Given the description of an element on the screen output the (x, y) to click on. 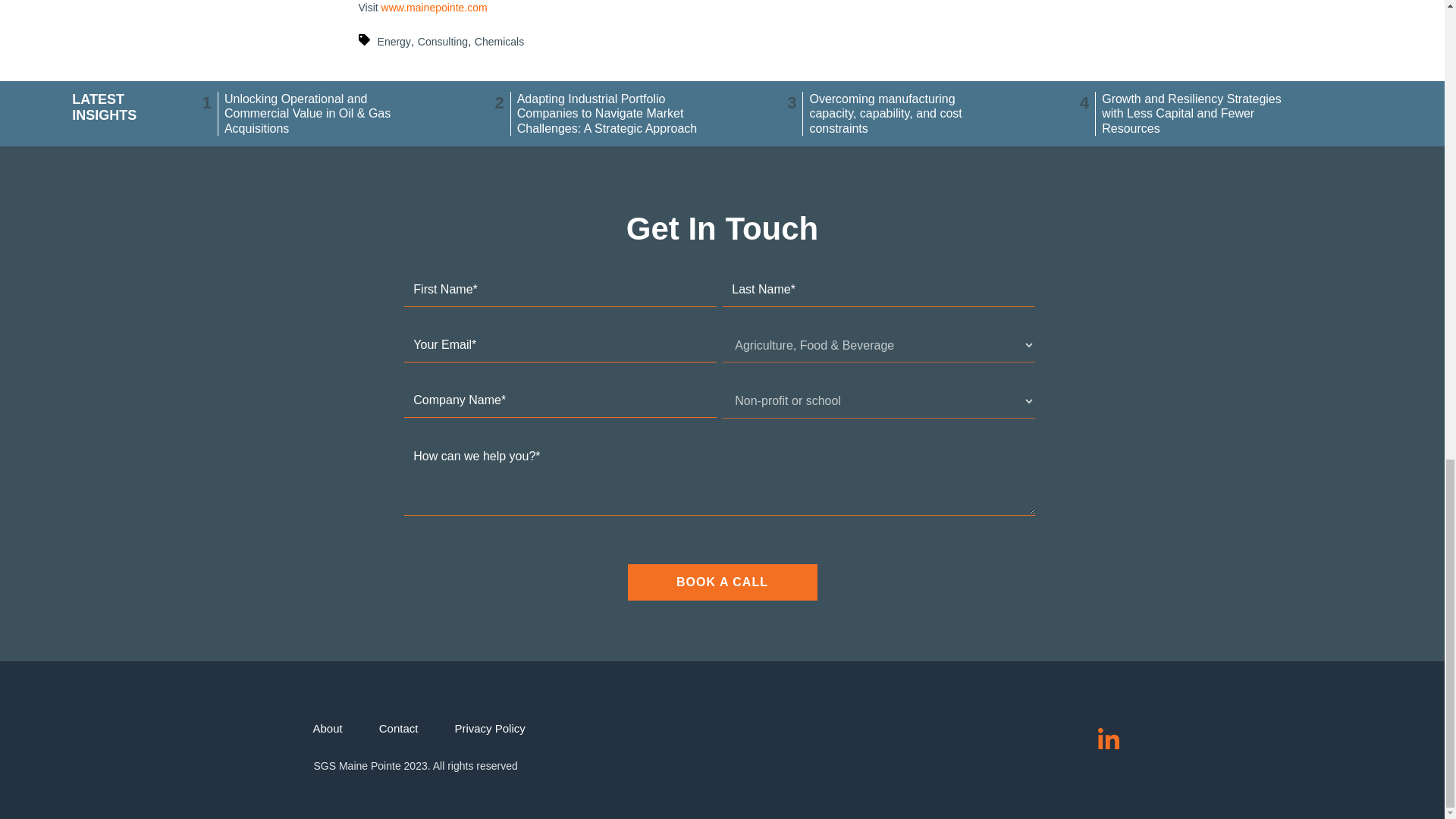
Book a call (721, 582)
